Given the description of an element on the screen output the (x, y) to click on. 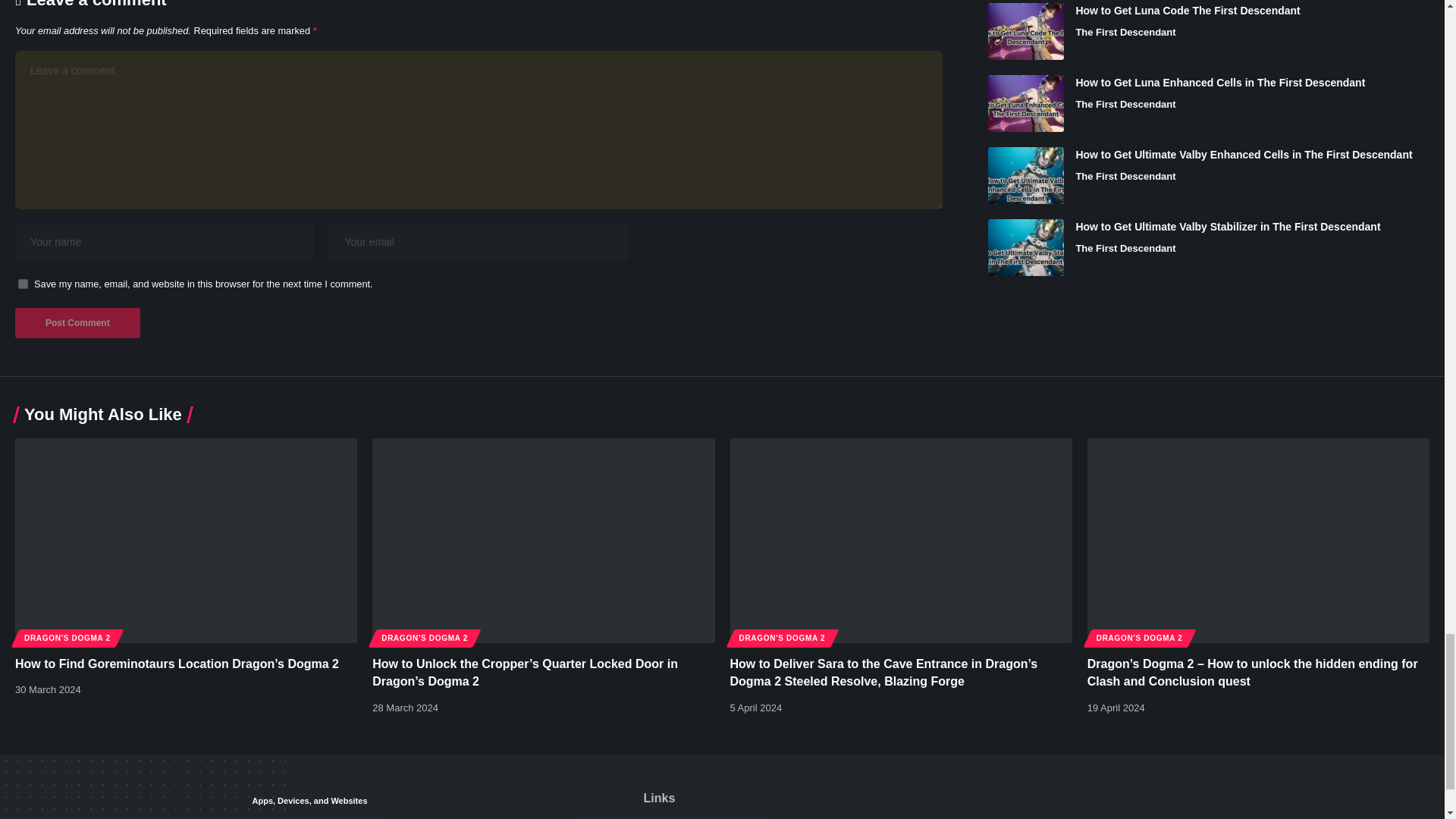
yes (22, 284)
Post Comment (76, 322)
